Given the description of an element on the screen output the (x, y) to click on. 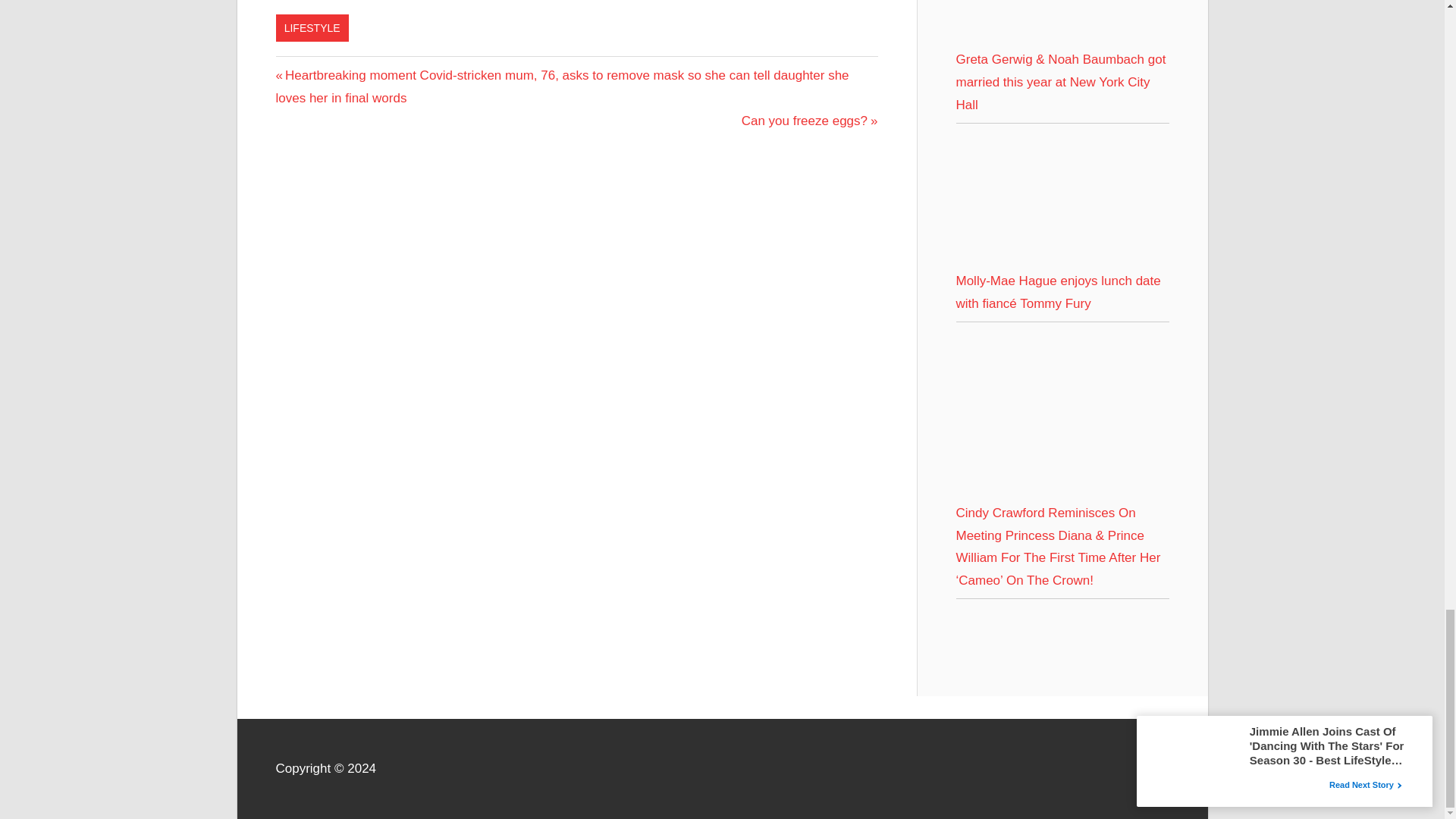
LIFESTYLE (312, 27)
